Given the description of an element on the screen output the (x, y) to click on. 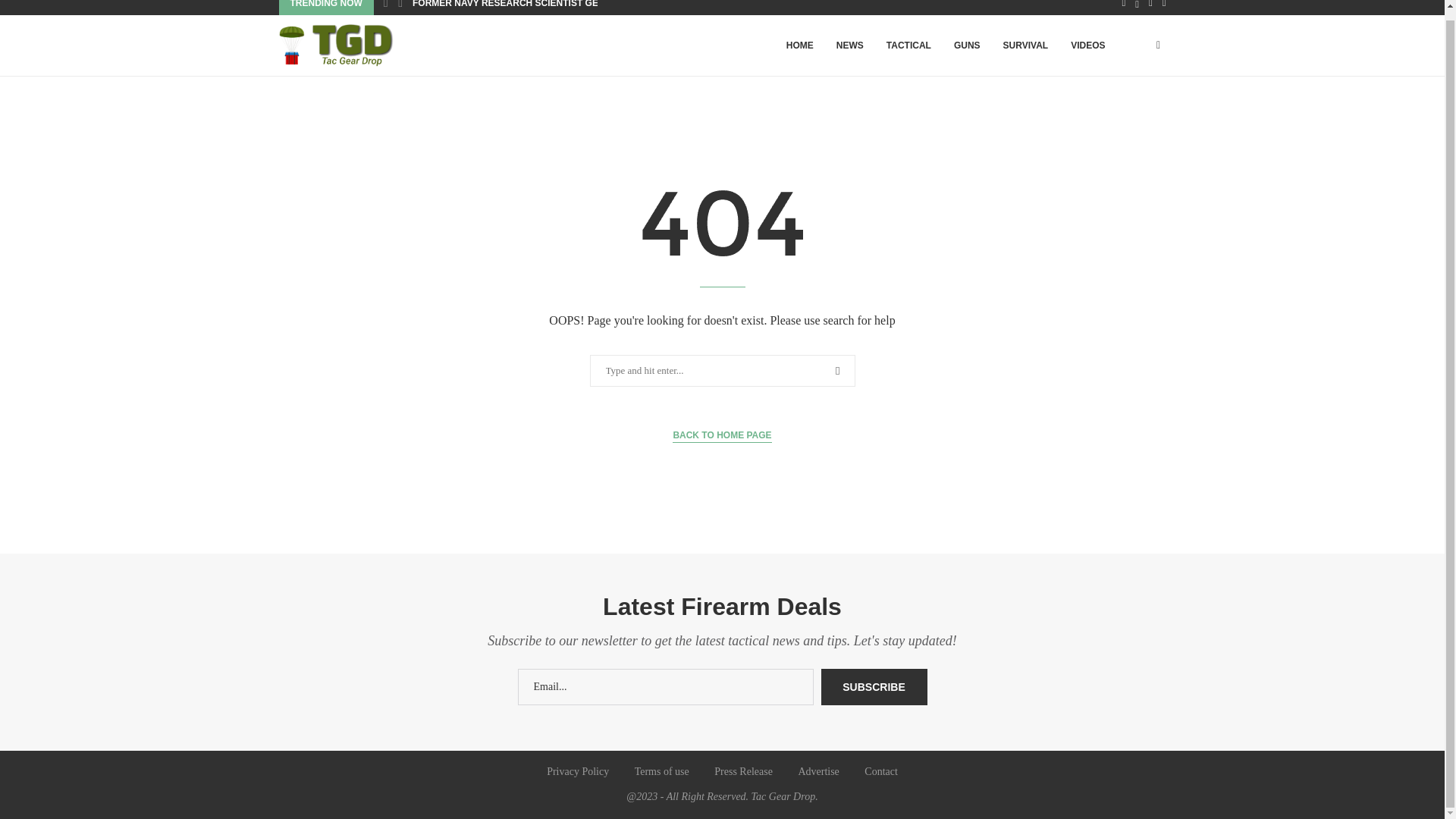
FORMER NAVY RESEARCH SCIENTIST GETS 25 YEARS FOR... (548, 7)
Contact (881, 771)
SURVIVAL (1025, 45)
Privacy Policy (577, 771)
VIDEOS (1087, 45)
Terms of use (661, 771)
TACTICAL (908, 45)
Advertise (817, 771)
Subscribe (873, 687)
BACK TO HOME PAGE (721, 435)
Subscribe (873, 687)
Press Release (743, 771)
Search (35, 10)
